Given the description of an element on the screen output the (x, y) to click on. 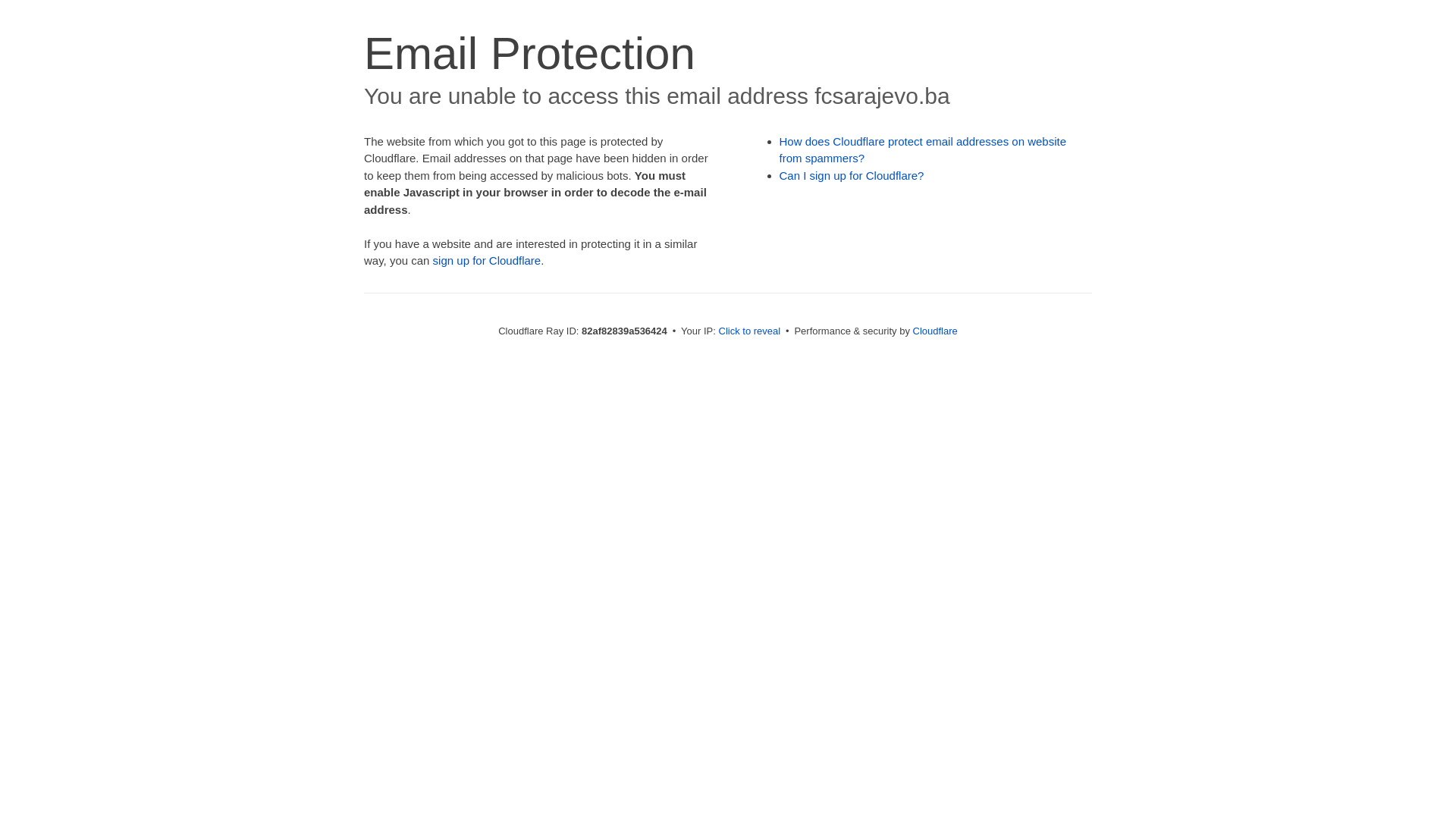
Cloudflare Element type: text (935, 330)
sign up for Cloudflare Element type: text (487, 260)
Can I sign up for Cloudflare? Element type: text (851, 175)
Click to reveal Element type: text (749, 330)
